Given the description of an element on the screen output the (x, y) to click on. 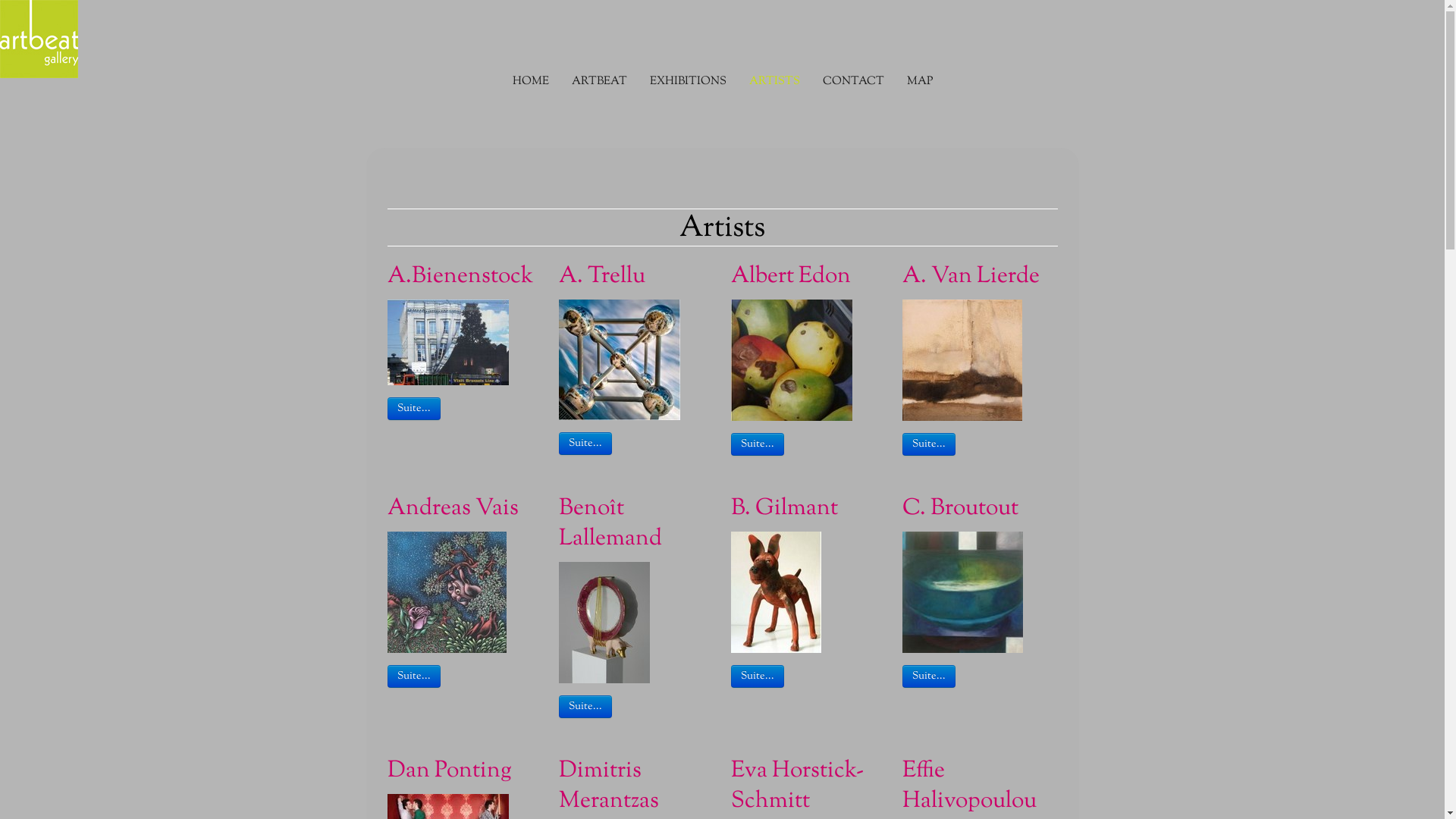
Albert Edon Element type: text (808, 276)
ARTISTS Element type: text (773, 81)
EXHIBITIONS Element type: text (687, 81)
C. Broutout Element type: text (979, 508)
CONTACT Element type: text (853, 81)
Suite... Element type: text (412, 676)
Dan Ponting Element type: text (463, 771)
Suite... Element type: text (584, 443)
Suite... Element type: text (584, 706)
Suite... Element type: text (757, 676)
Andreas Vais Element type: text (463, 508)
A.Bienenstock Element type: text (463, 276)
Suite... Element type: text (928, 444)
ARTBEAT Element type: text (598, 81)
A. Trellu Element type: text (635, 276)
Suite... Element type: text (757, 444)
Effie Halivopoulou Element type: text (979, 786)
MAP Element type: text (918, 81)
Suite... Element type: text (928, 676)
Eva Horstick-Schmitt Element type: text (808, 786)
Dimitris Merantzas Element type: text (635, 786)
Suite... Element type: text (412, 408)
HOME Element type: text (529, 81)
A. Van Lierde Element type: text (979, 276)
B. Gilmant Element type: text (808, 508)
